Given the description of an element on the screen output the (x, y) to click on. 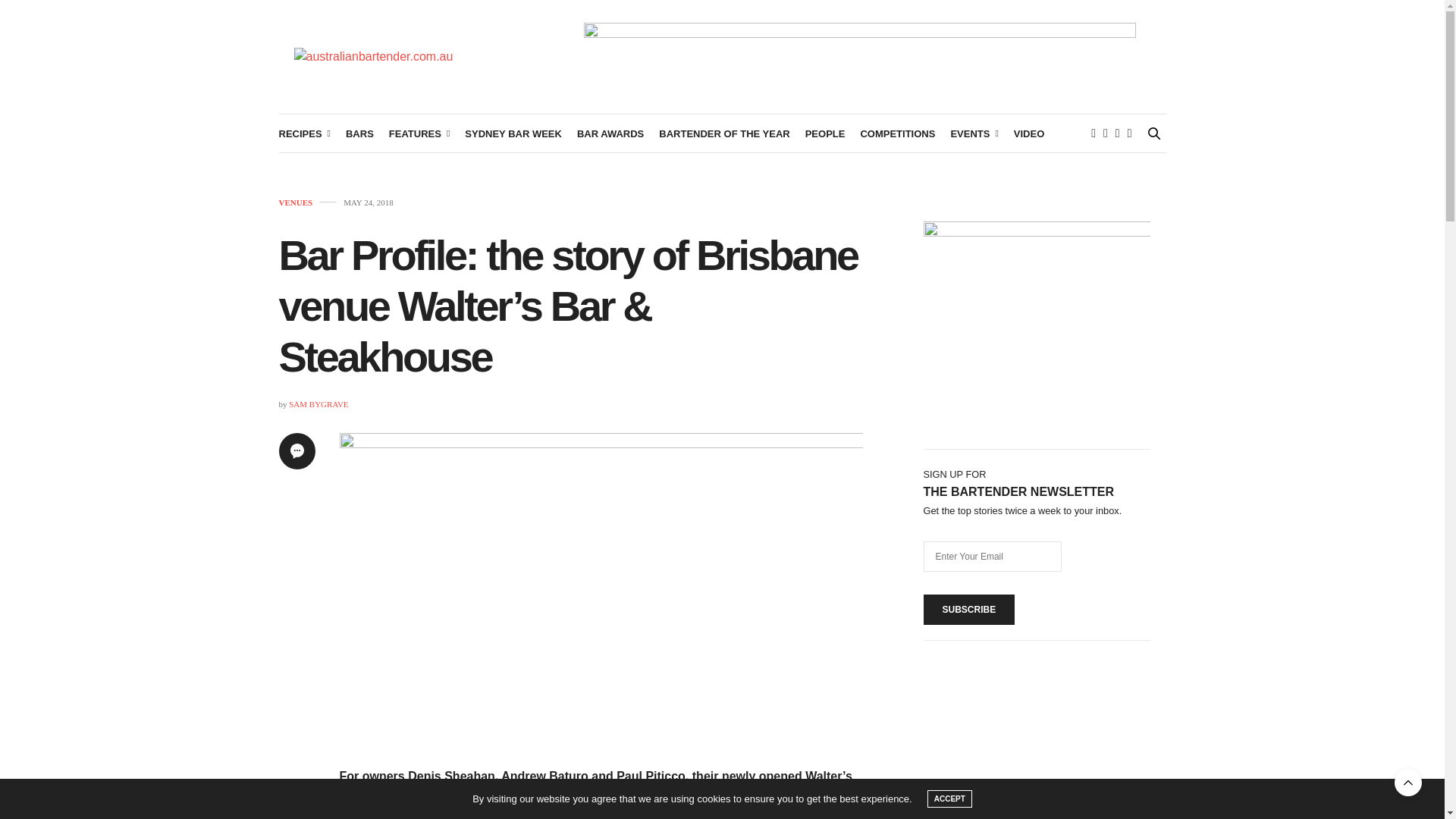
australianbartender.com.au (373, 56)
FEATURES (418, 133)
RECIPES (304, 133)
Subscribe (968, 609)
Posts by Sam Bygrave (317, 403)
